Given the description of an element on the screen output the (x, y) to click on. 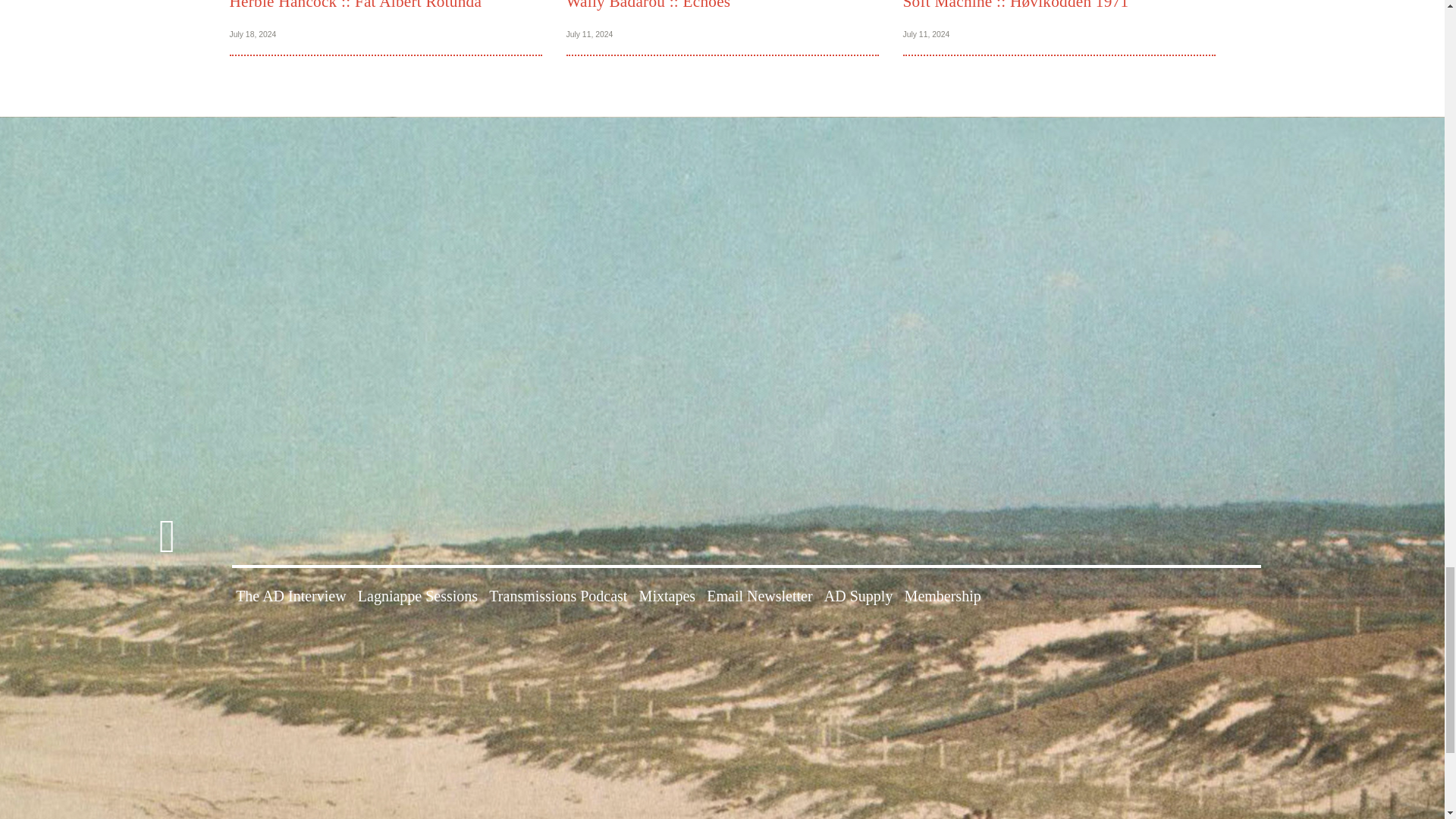
Lagniappe Sessions (417, 596)
AD Supply (858, 596)
Herbie Hancock :: Fat Albert Rotunda (354, 5)
Mixtapes (667, 596)
The AD Interview (290, 596)
Email Newsletter (759, 596)
Transmissions Podcast (558, 596)
Wally Badarou :: Echoes (648, 5)
Membership (942, 596)
